Given the description of an element on the screen output the (x, y) to click on. 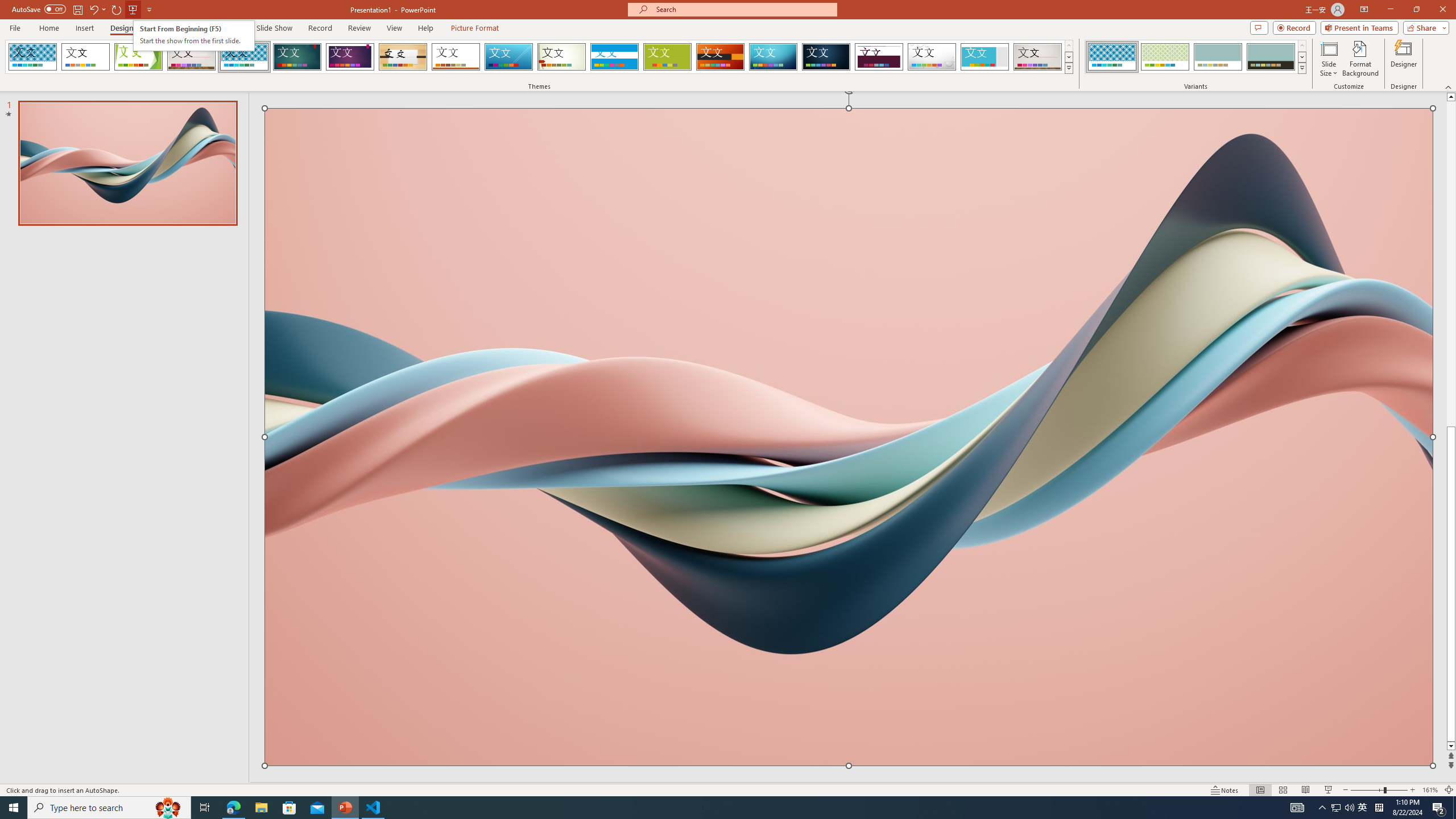
Circuit (772, 56)
Facet (138, 56)
Slice (508, 56)
